Given the description of an element on the screen output the (x, y) to click on. 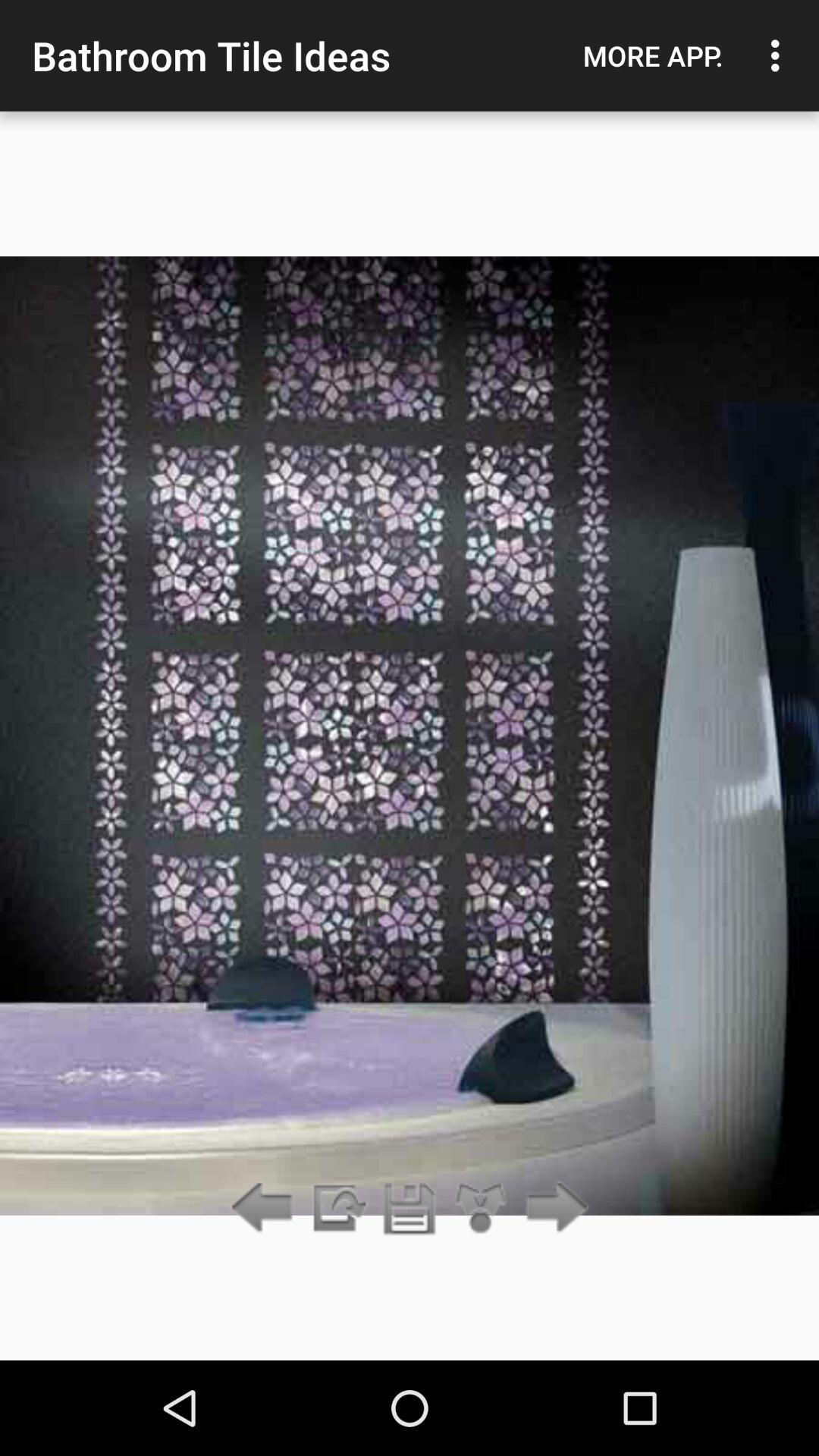
turn on the icon next to the more app. icon (779, 55)
